Given the description of an element on the screen output the (x, y) to click on. 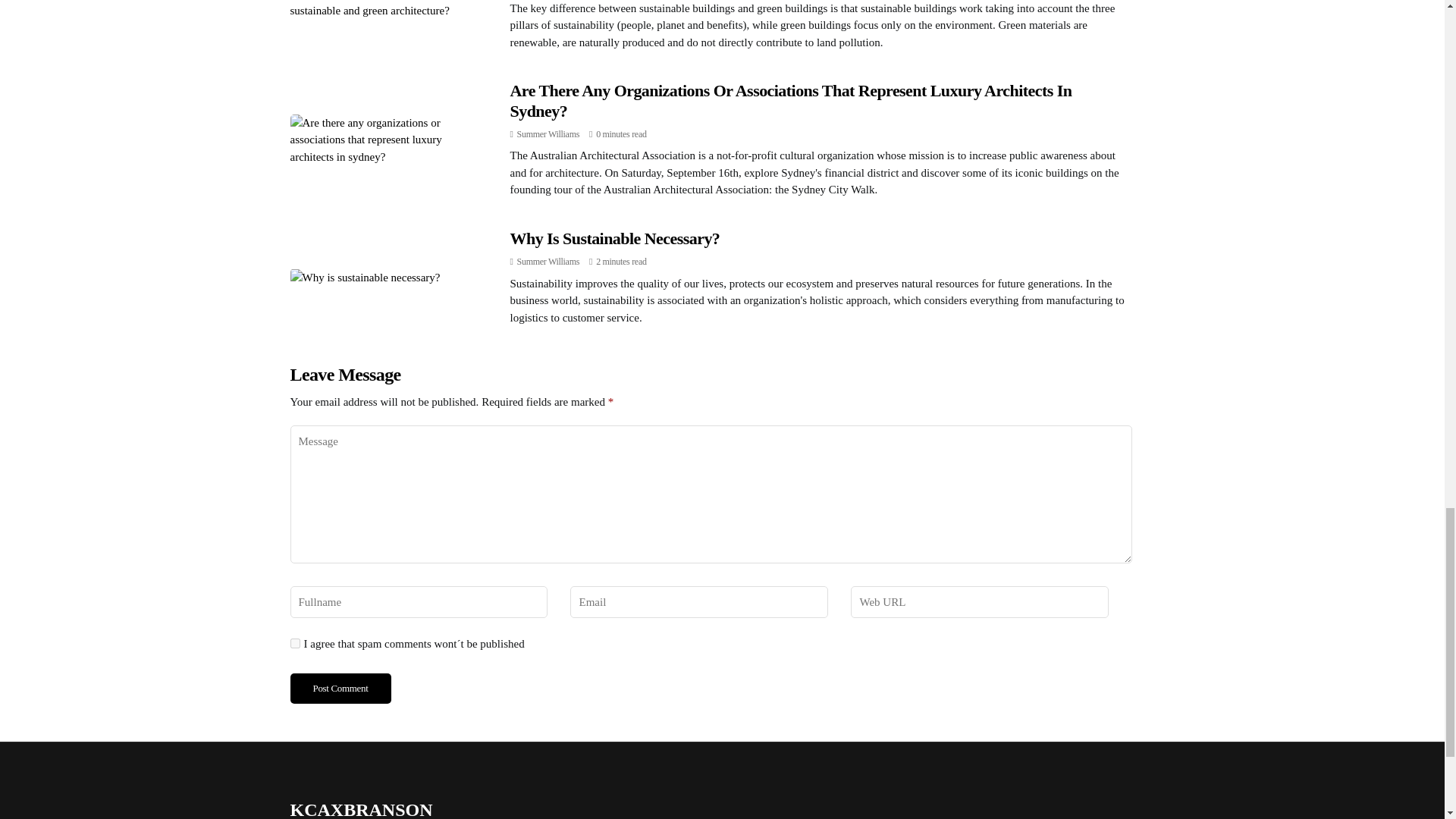
Why Is Sustainable Necessary? (614, 238)
Post Comment (339, 688)
Summer Williams (547, 261)
Summer Williams (547, 133)
yes (294, 643)
Posts by Summer Williams (547, 133)
Post Comment (339, 688)
Posts by Summer Williams (547, 261)
